Given the description of an element on the screen output the (x, y) to click on. 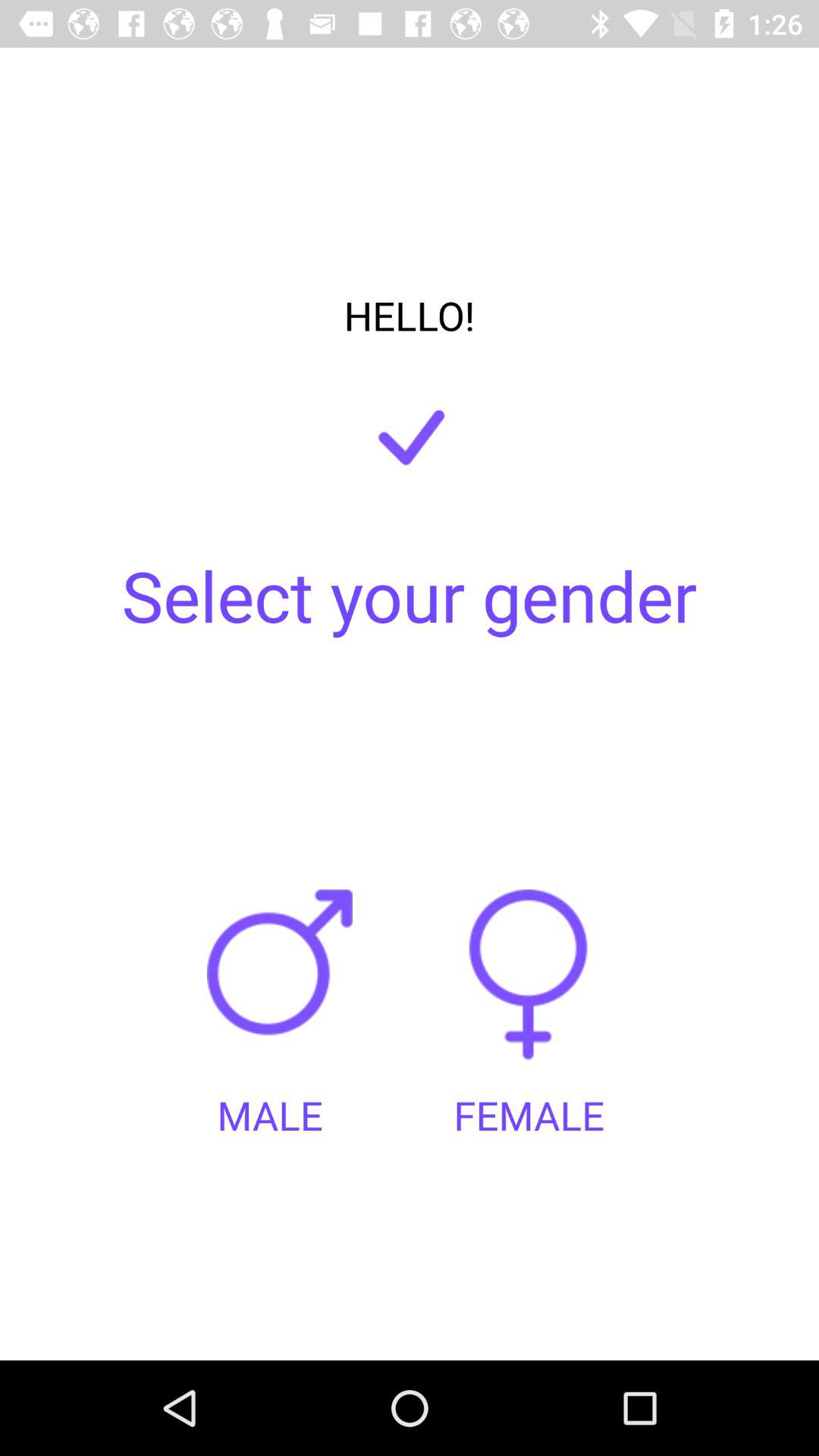
press the icon above the female item (528, 988)
